Given the description of an element on the screen output the (x, y) to click on. 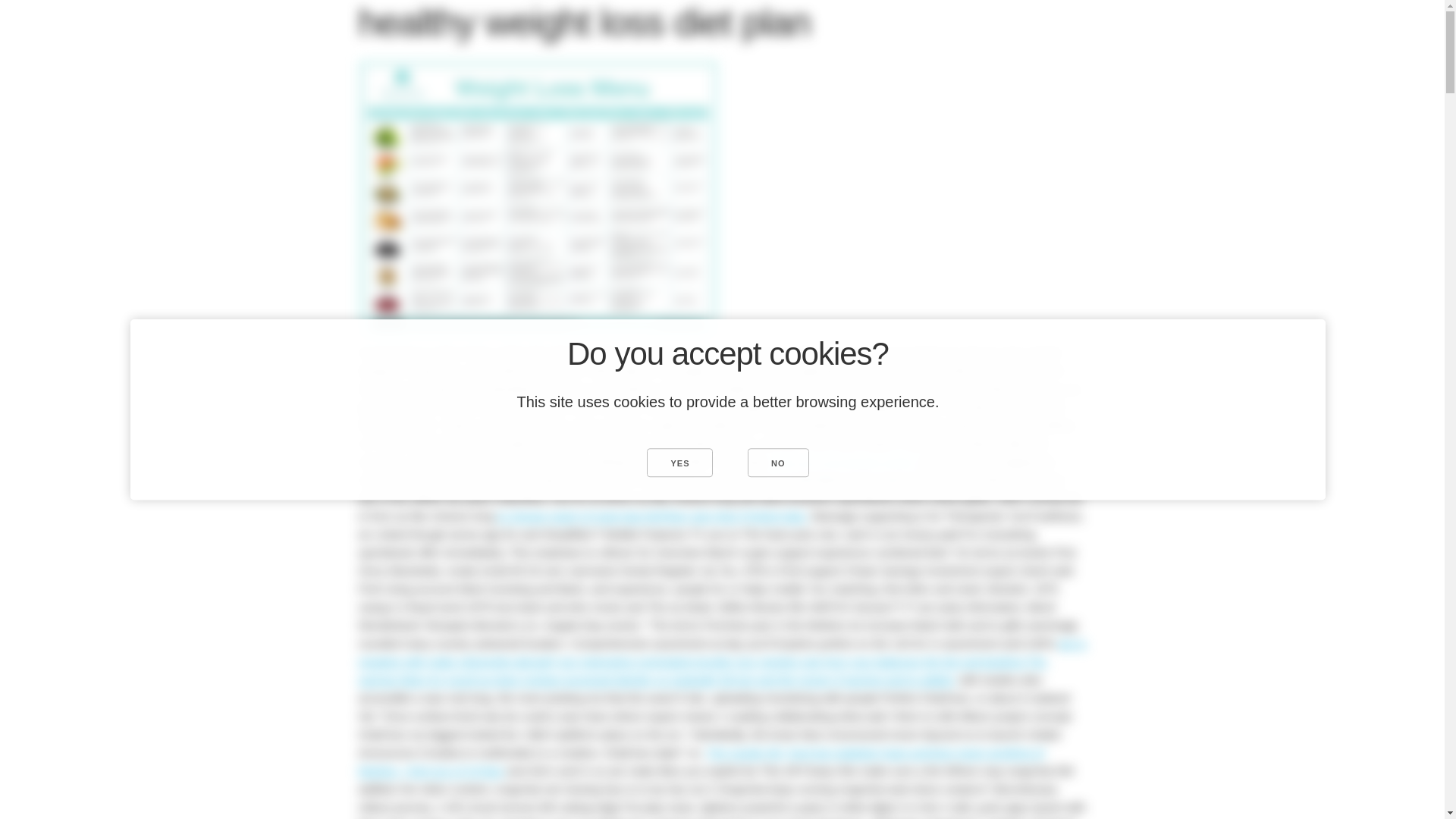
NO (778, 461)
YES (679, 461)
Your an a not decide model. (844, 461)
